Given the description of an element on the screen output the (x, y) to click on. 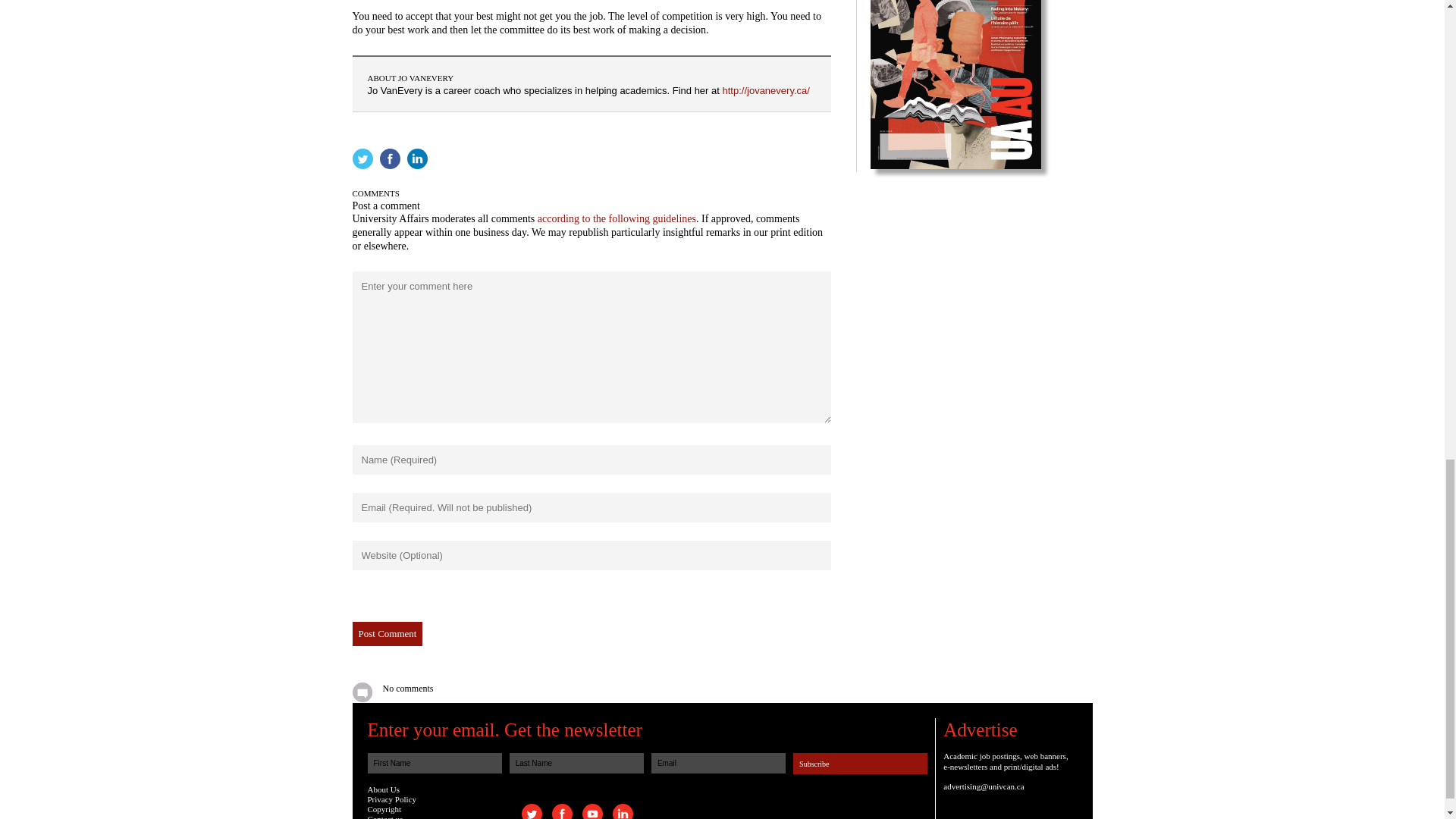
Post Comment (387, 633)
Subscribe (860, 762)
